Given the description of an element on the screen output the (x, y) to click on. 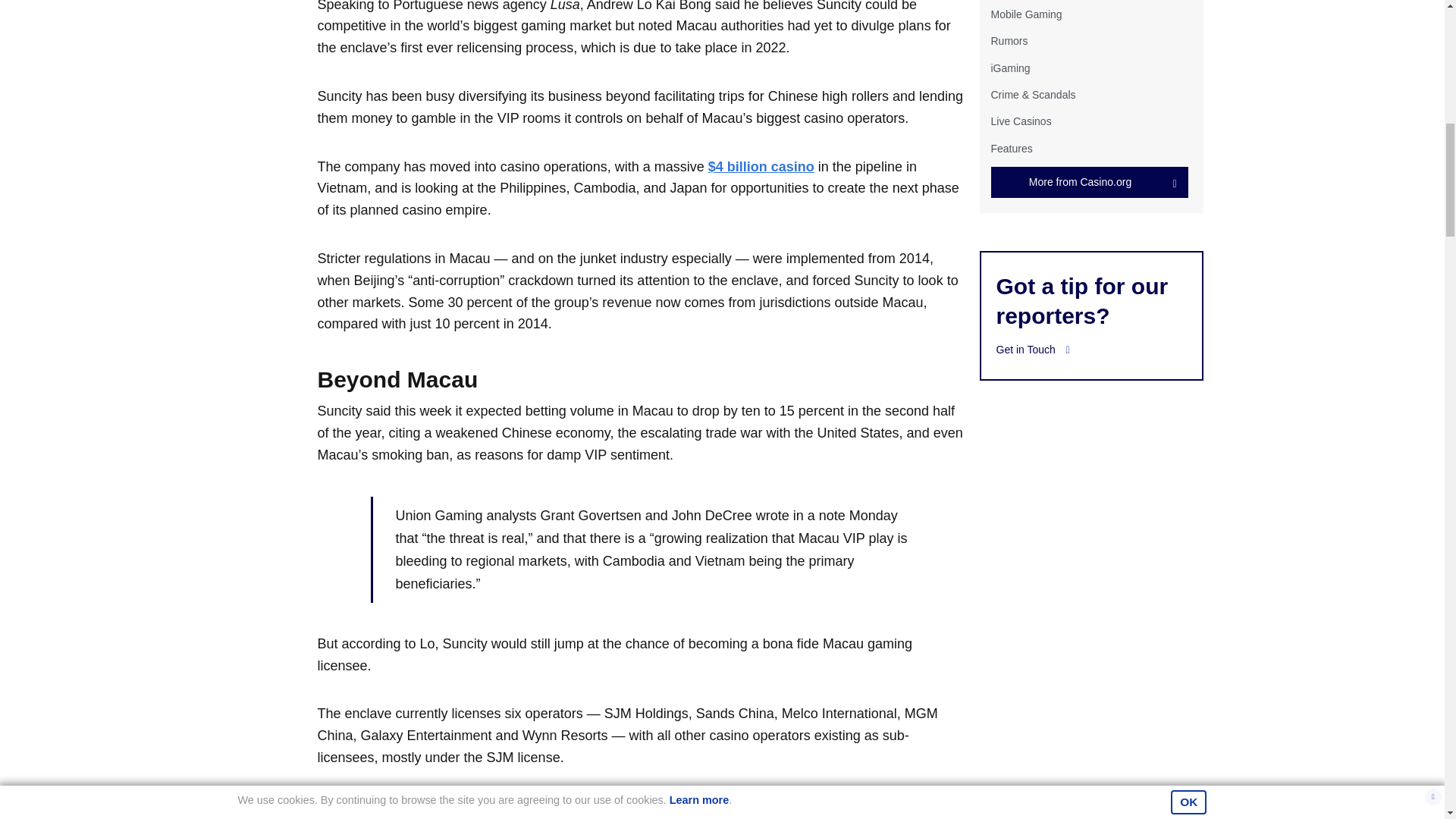
Rumors (1008, 40)
Mobile Gaming (1025, 14)
Features (1011, 148)
Live Casinos (1020, 121)
iGaming (1009, 68)
